Given the description of an element on the screen output the (x, y) to click on. 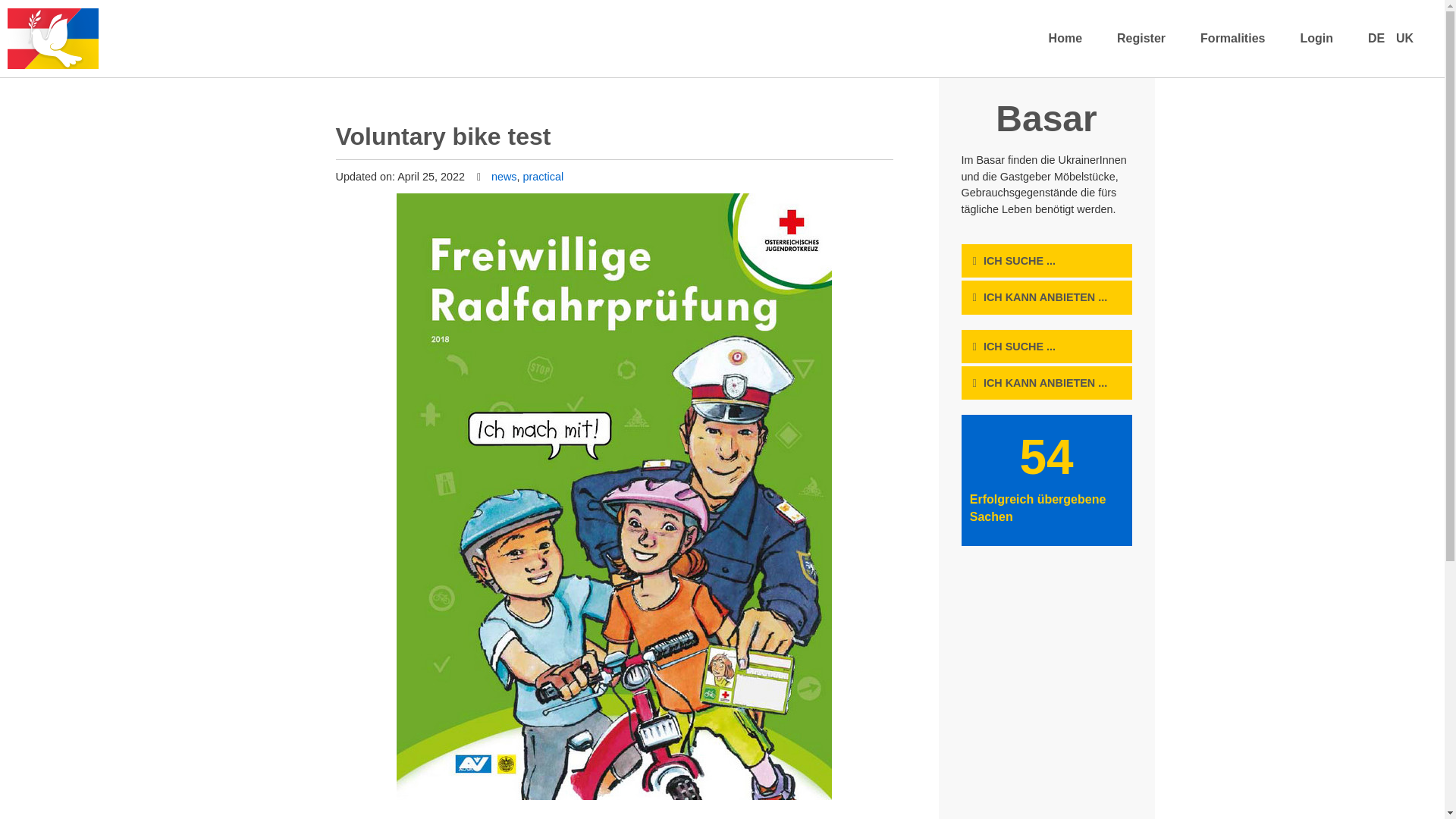
ICH SUCHE ... (1019, 260)
ICH SUCHE ... (1019, 346)
Home (1065, 38)
practical (543, 176)
ICH KANN ANBIETEN ... (1045, 382)
Register (1141, 38)
news (504, 176)
ICH KANN ANBIETEN ... (1045, 297)
Formalities (1232, 38)
Login (1316, 38)
